Given the description of an element on the screen output the (x, y) to click on. 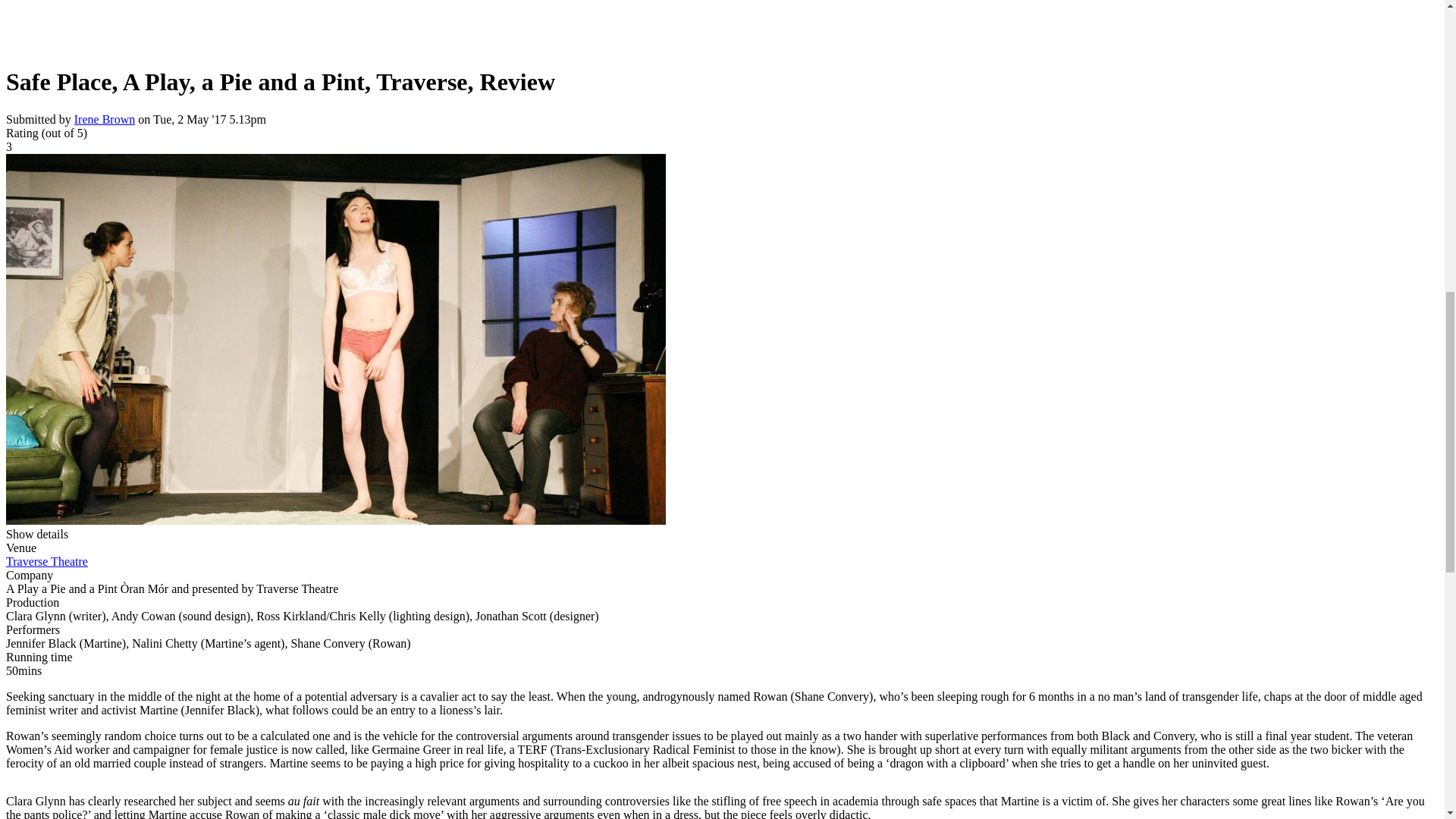
Advertisement (460, 24)
View user profile. (104, 118)
